Given the description of an element on the screen output the (x, y) to click on. 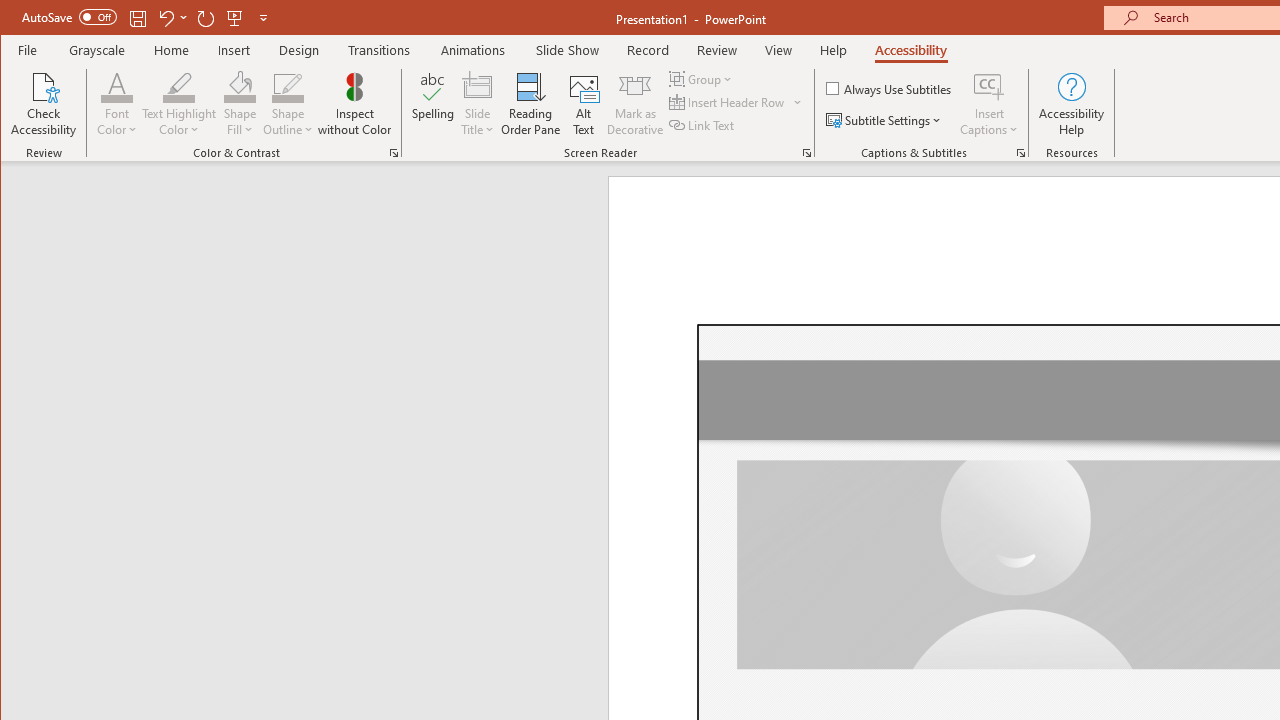
Subtitle Settings (885, 119)
Inspect without Color (355, 104)
Insert Header Row (728, 101)
Shape Fill Orange, Accent 2 (239, 86)
Insert Captions (989, 104)
Spelling... (432, 104)
Slide Title (477, 86)
